Given the description of an element on the screen output the (x, y) to click on. 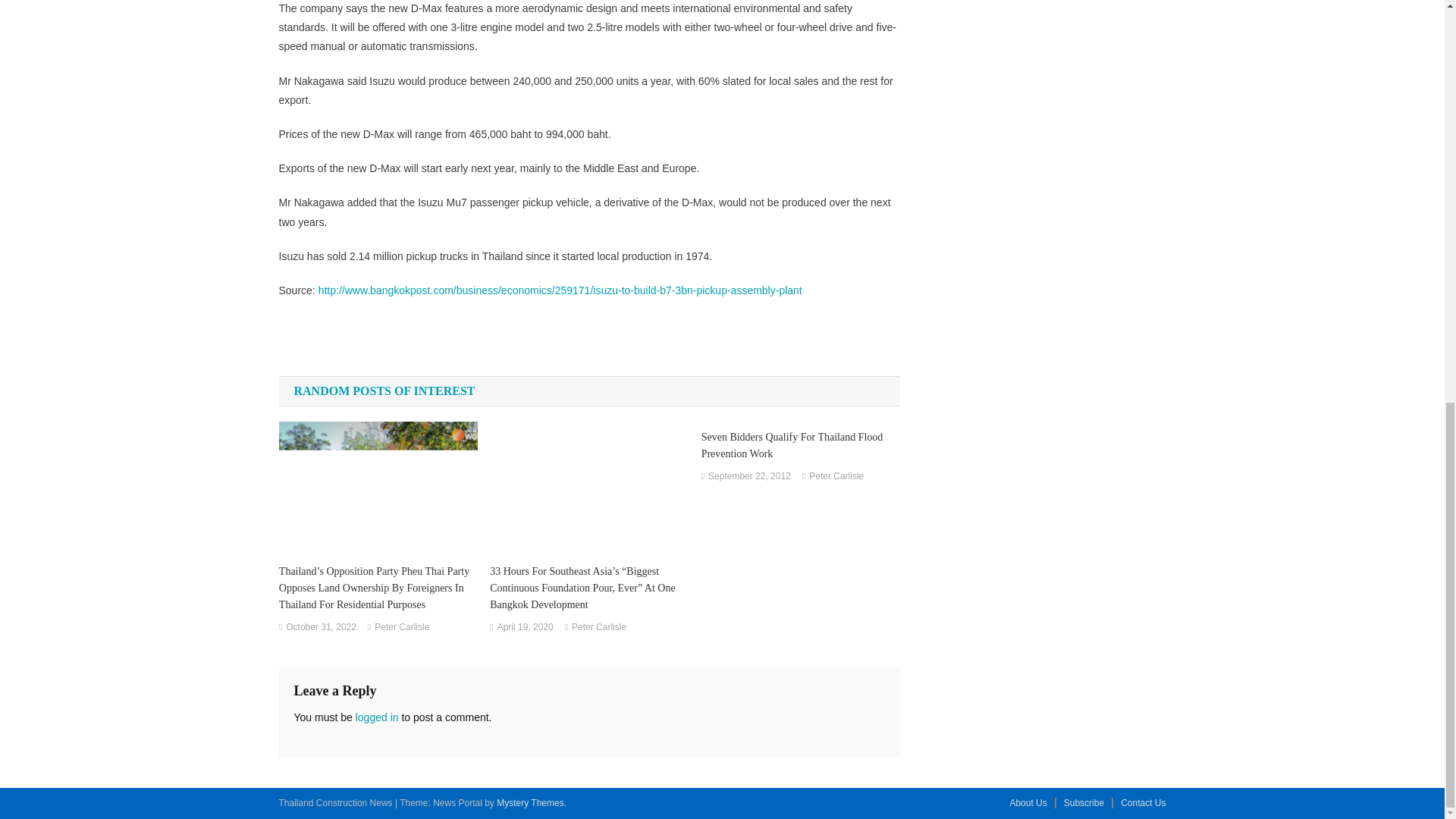
October 31, 2022 (320, 627)
April 19, 2020 (525, 627)
Seven Bidders Qualify For Thailand Flood Prevention Work (800, 445)
Peter Carlisle (599, 627)
Peter Carlisle (401, 627)
